Given the description of an element on the screen output the (x, y) to click on. 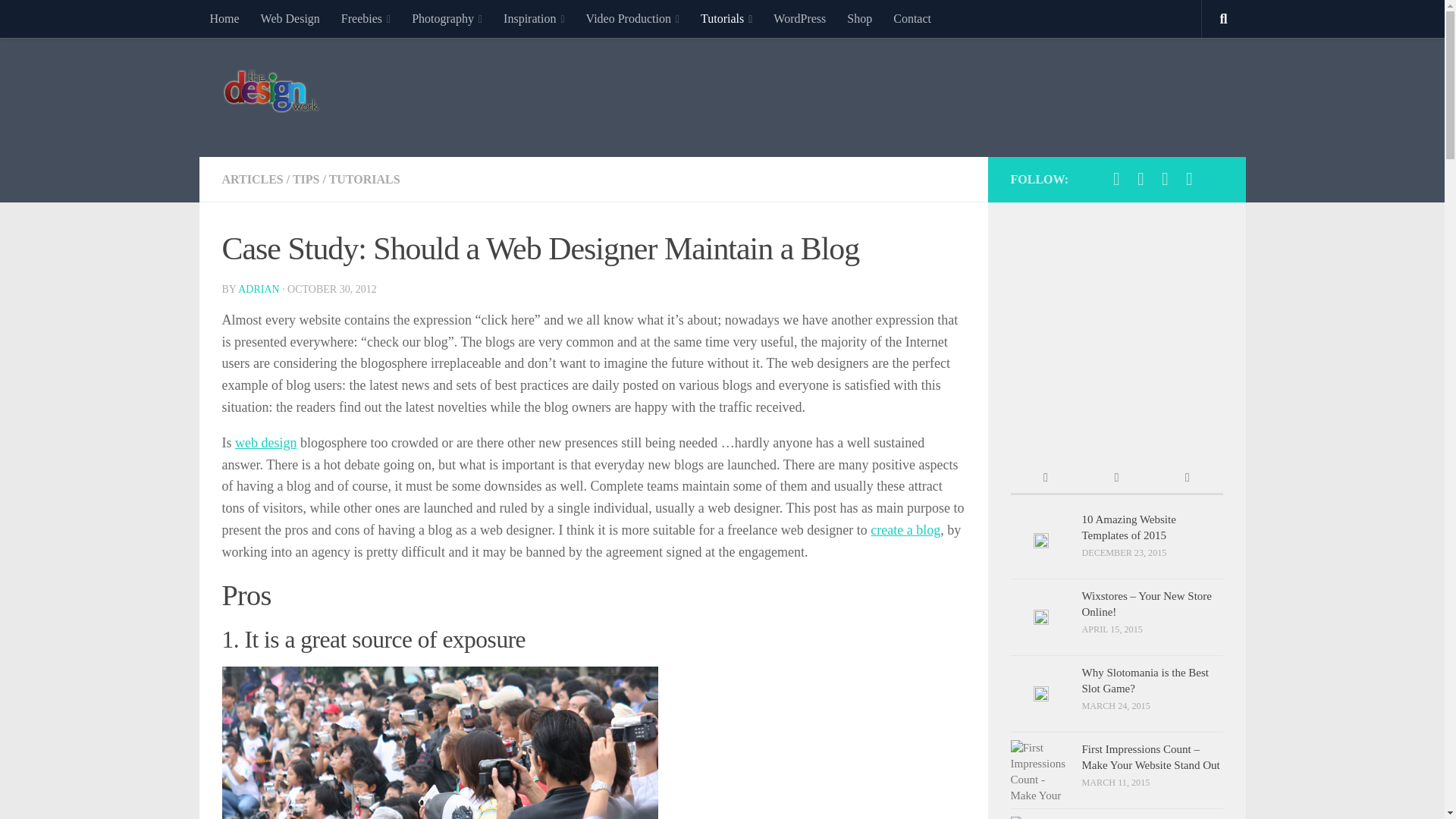
It is a great source of exposure (439, 742)
Posts by adrian (258, 288)
Photography (447, 18)
RSS (1188, 178)
Inspiration (534, 18)
Skip to content (59, 20)
Freebies (365, 18)
Twitter (1140, 178)
Facebook (1115, 178)
Web Design (290, 18)
